Given the description of an element on the screen output the (x, y) to click on. 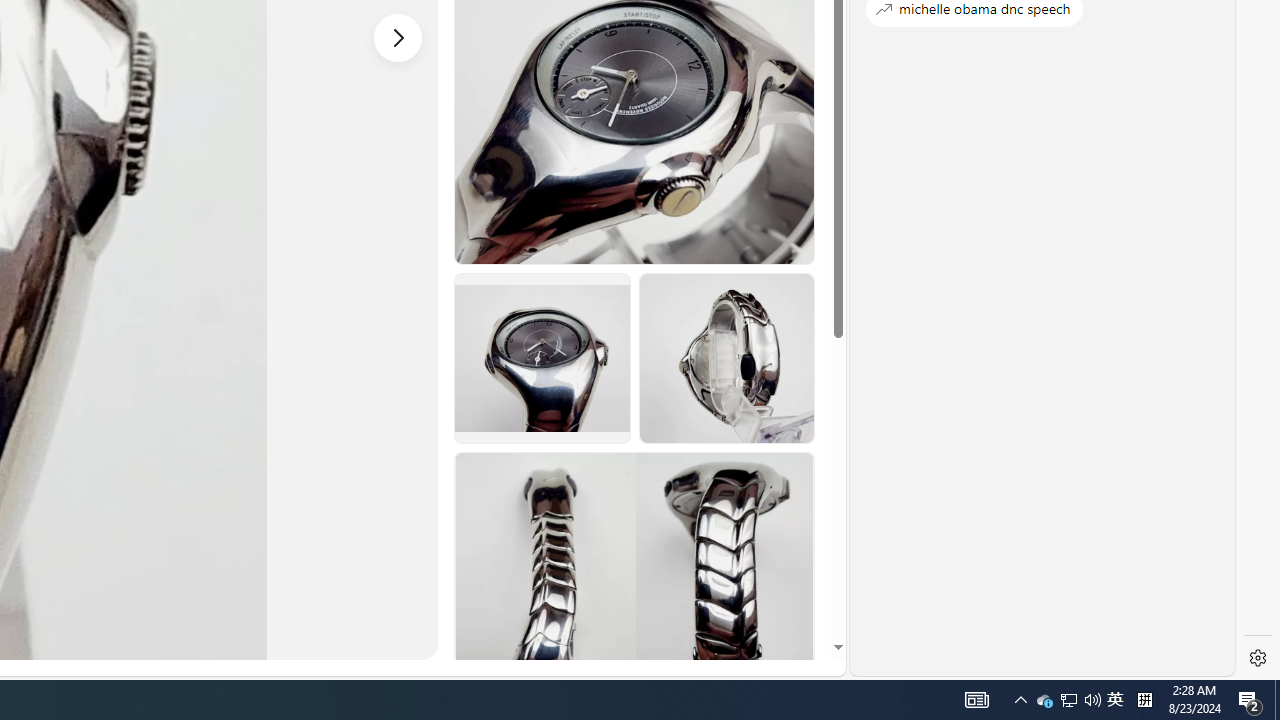
Next image - Item images thumbnails (397, 37)
